Given the description of an element on the screen output the (x, y) to click on. 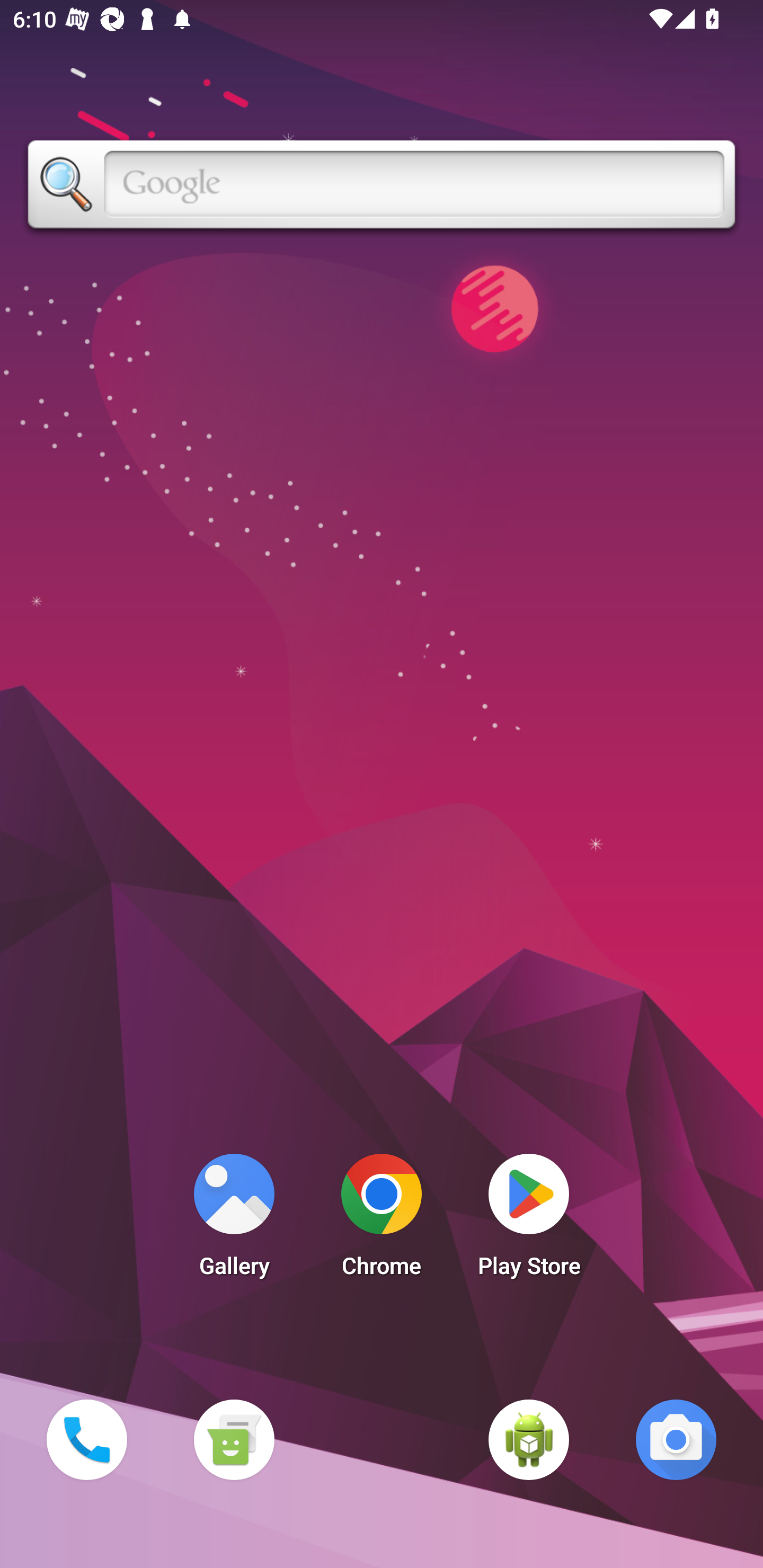
Gallery (233, 1220)
Chrome (381, 1220)
Play Store (528, 1220)
Phone (86, 1439)
Messaging (233, 1439)
WebView Browser Tester (528, 1439)
Camera (676, 1439)
